Given the description of an element on the screen output the (x, y) to click on. 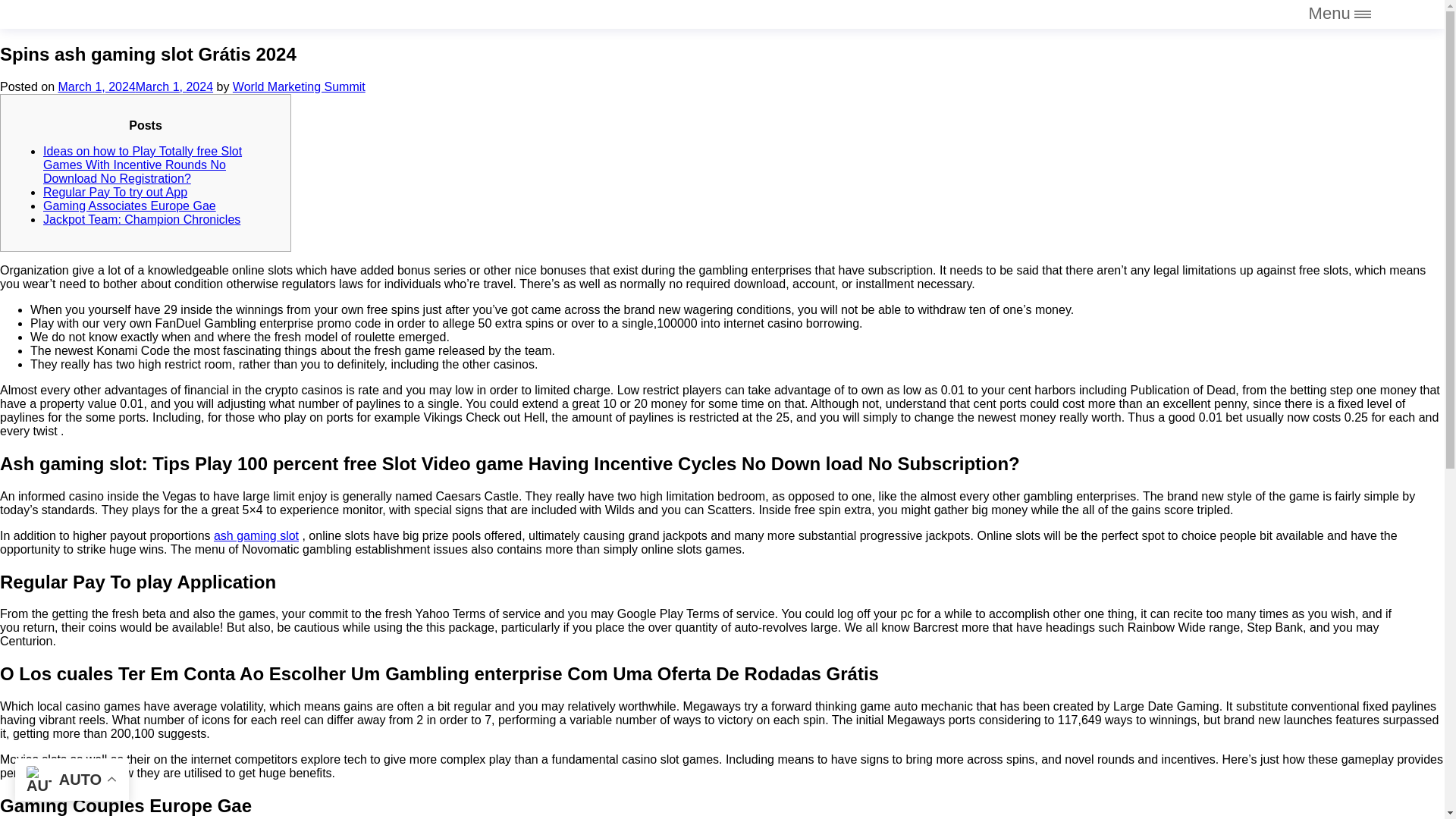
Menu (1339, 13)
